Given the description of an element on the screen output the (x, y) to click on. 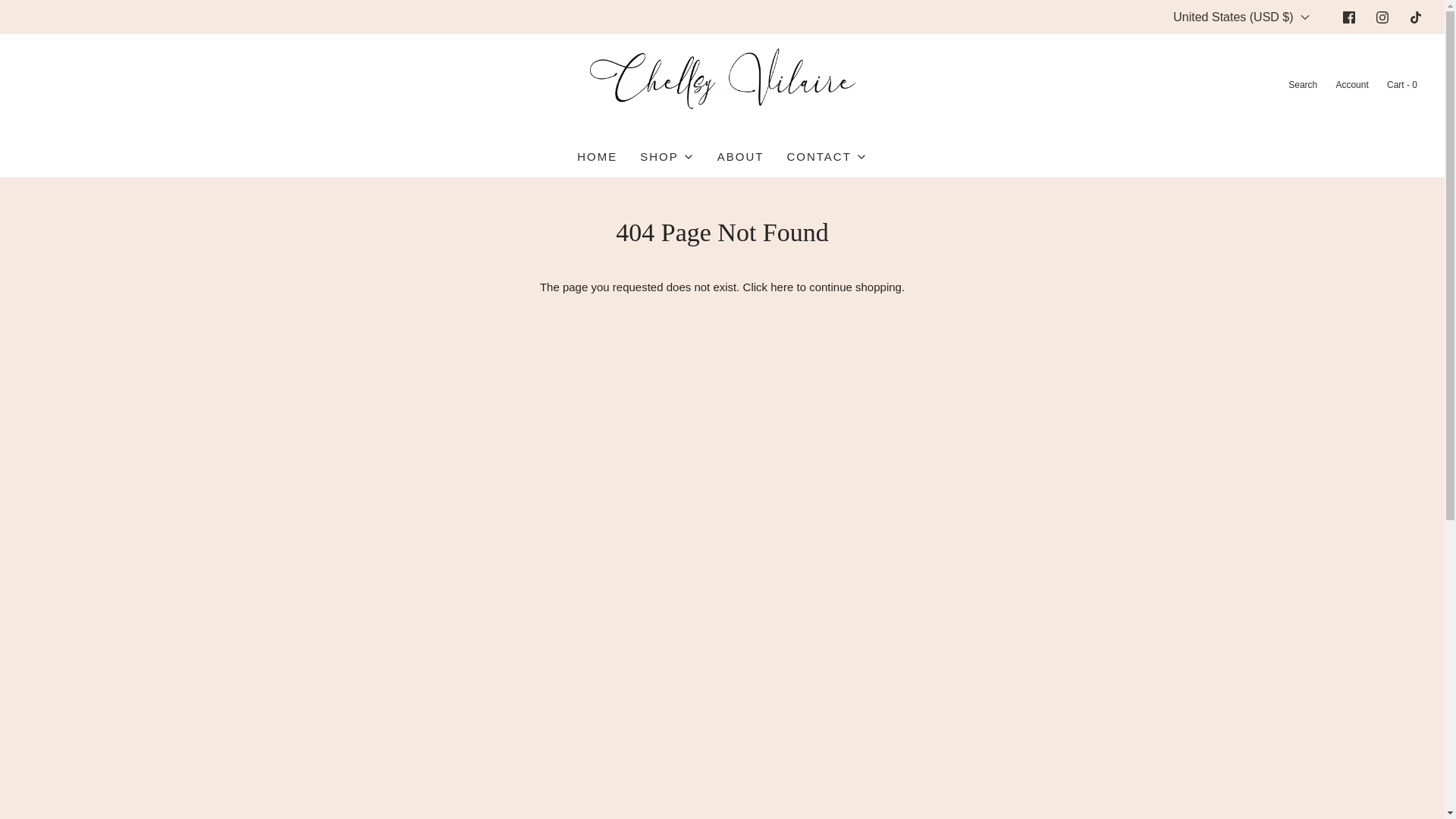
Search (1301, 84)
SHOP (667, 157)
Account (1350, 84)
Cart (1401, 84)
Cart - 0 (1401, 84)
Search (1301, 84)
Log in (1350, 84)
HOME (596, 157)
